Given the description of an element on the screen output the (x, y) to click on. 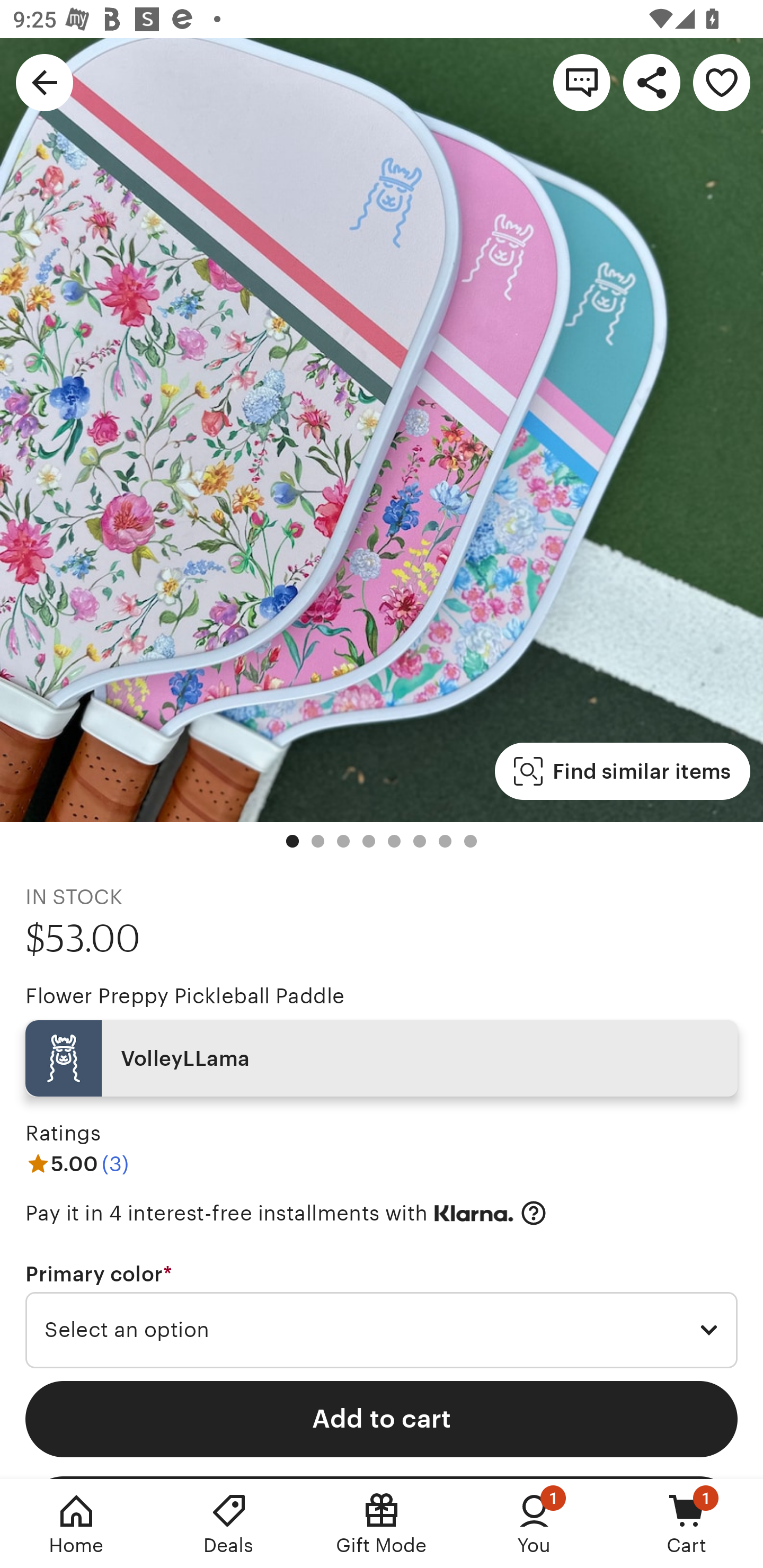
Navigate up (44, 81)
Contact shop (581, 81)
Share (651, 81)
Find similar items (622, 771)
Flower Preppy Pickleball Paddle (184, 996)
VolleyLLama (381, 1058)
Ratings (62, 1133)
5.00 (3) (76, 1163)
Primary color * Required Select an option (381, 1315)
Select an option (381, 1330)
Add to cart (381, 1418)
Home (76, 1523)
Deals (228, 1523)
Gift Mode (381, 1523)
You, 1 new notification You (533, 1523)
